Given the description of an element on the screen output the (x, y) to click on. 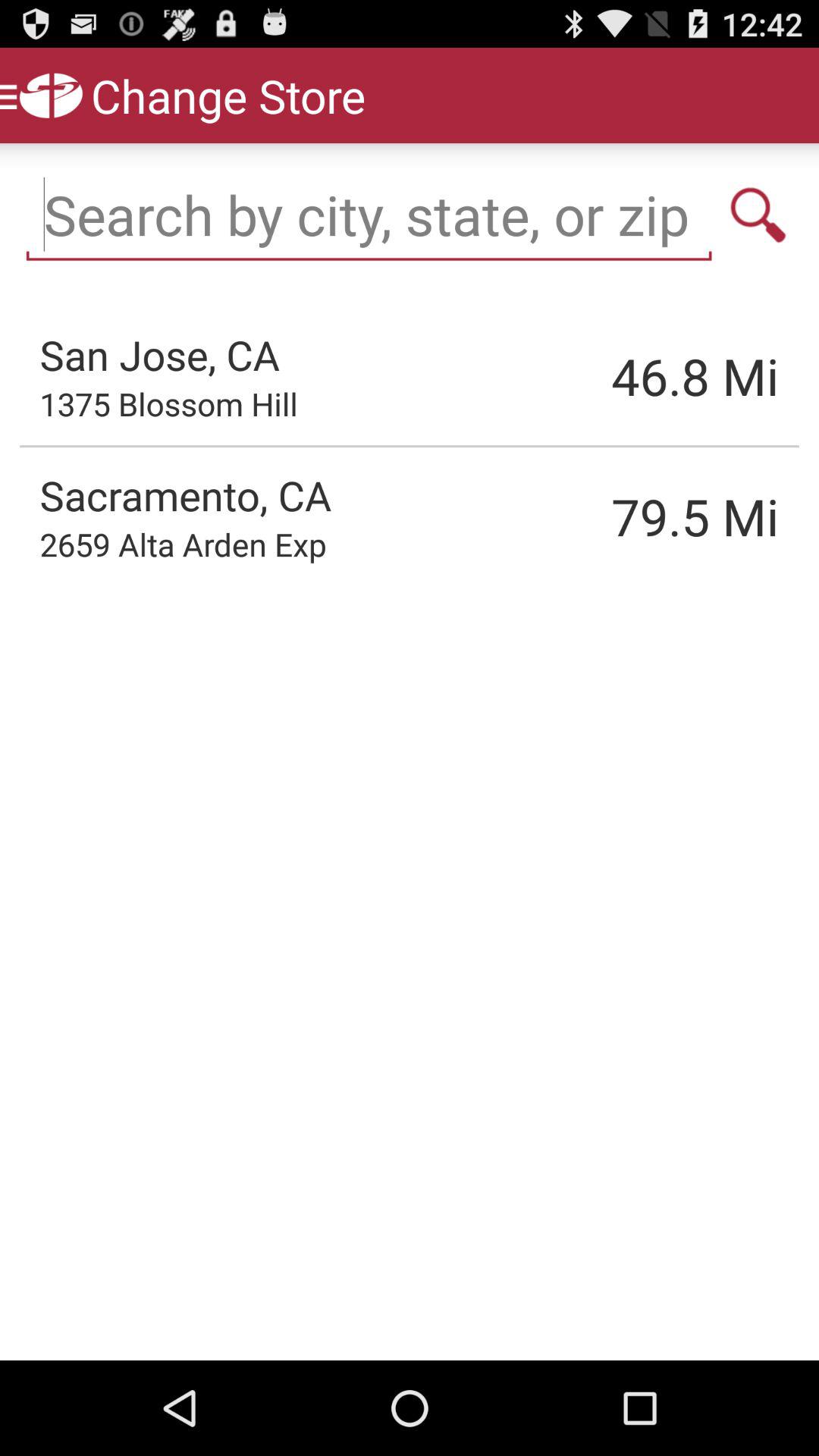
turn on the 79.5 (617, 516)
